Given the description of an element on the screen output the (x, y) to click on. 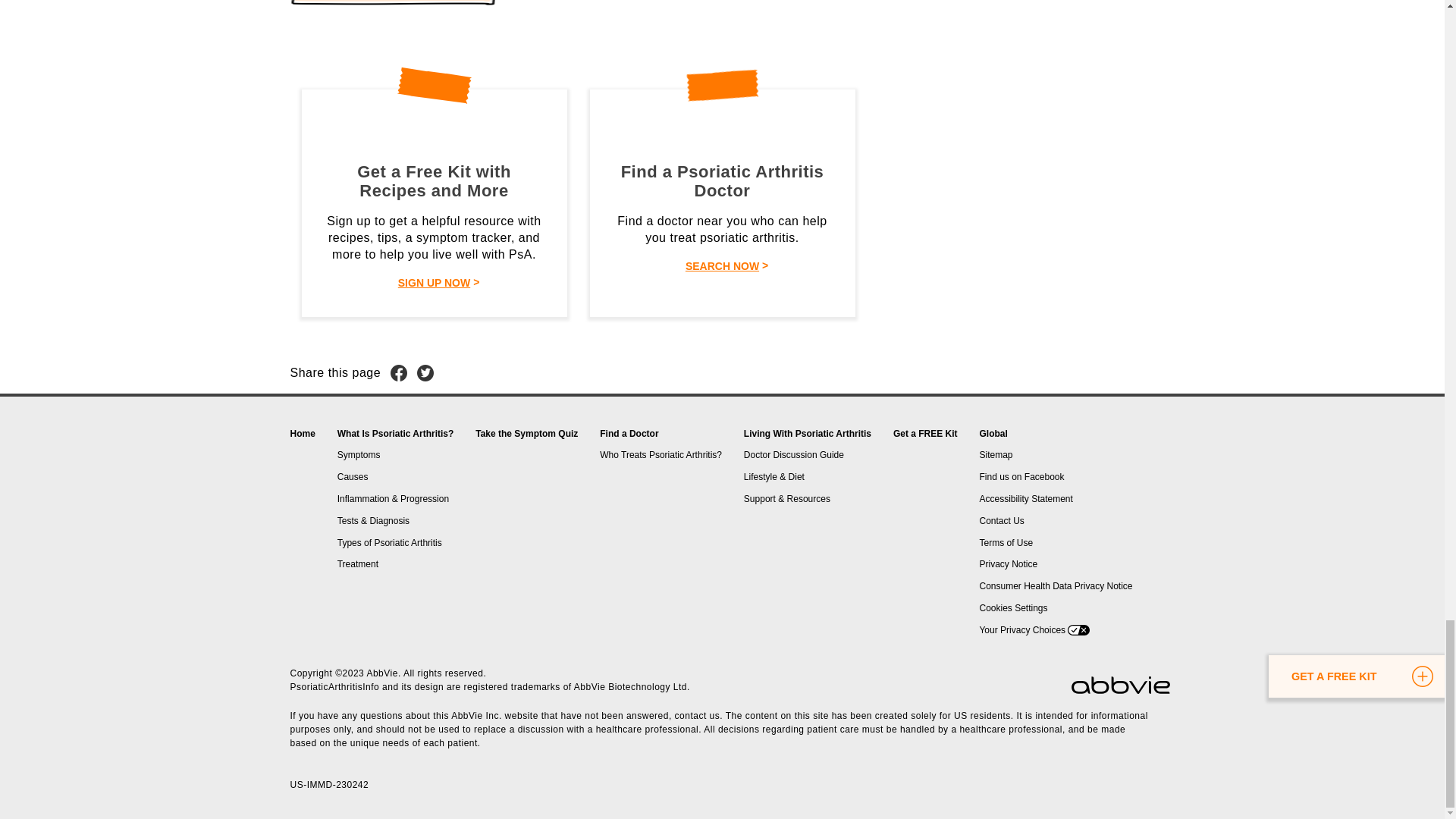
Cookies Settings (1012, 607)
